Given the description of an element on the screen output the (x, y) to click on. 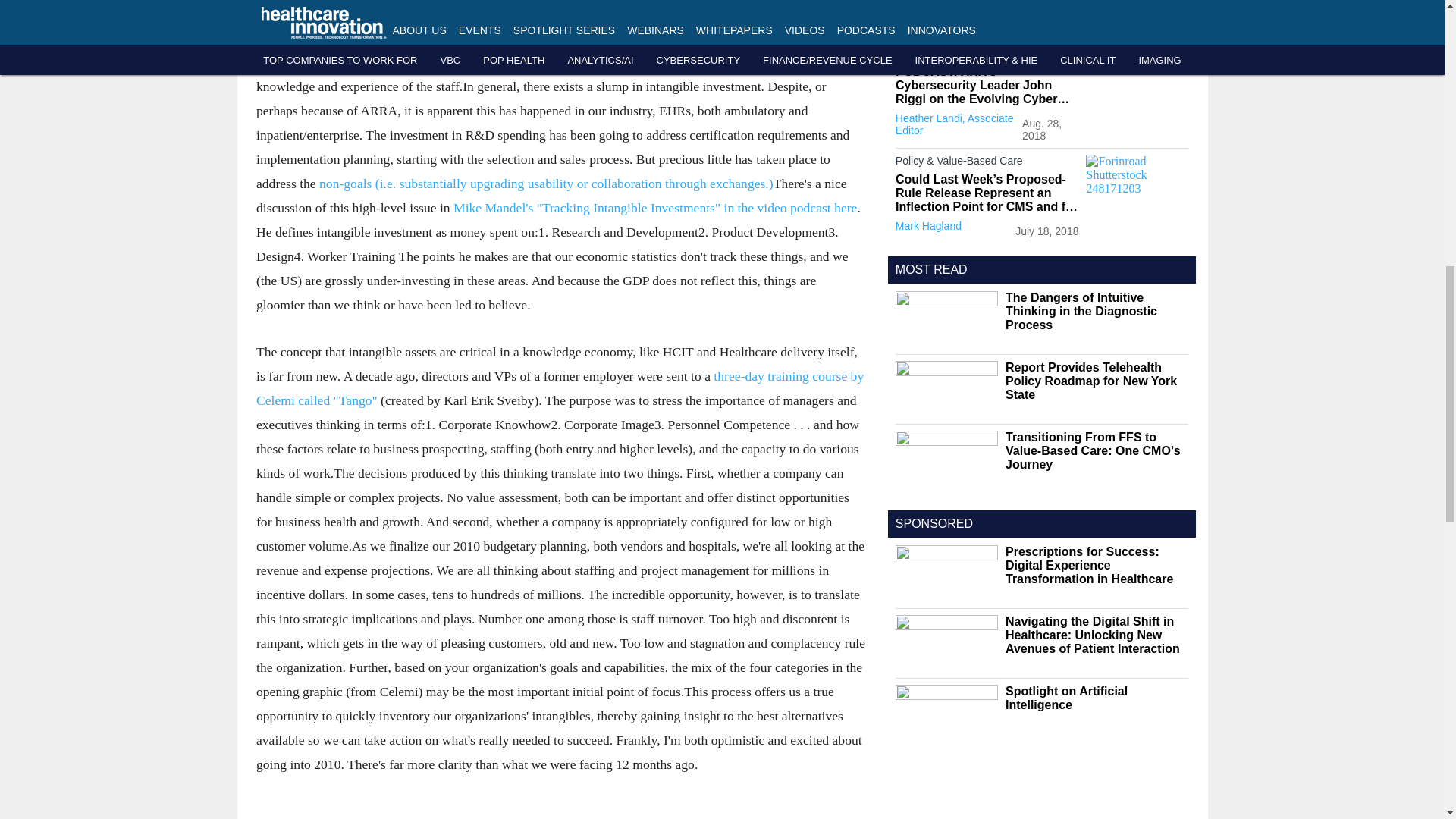
Non-goals blog post (545, 183)
Celemi tango (342, 37)
Tango (559, 387)
Mandel on economics - intangible investments and gdp (654, 207)
Intangible Assets Graphic Ia (560, 7)
three-day training course by Celemi called "Tango" (559, 387)
